Given the description of an element on the screen output the (x, y) to click on. 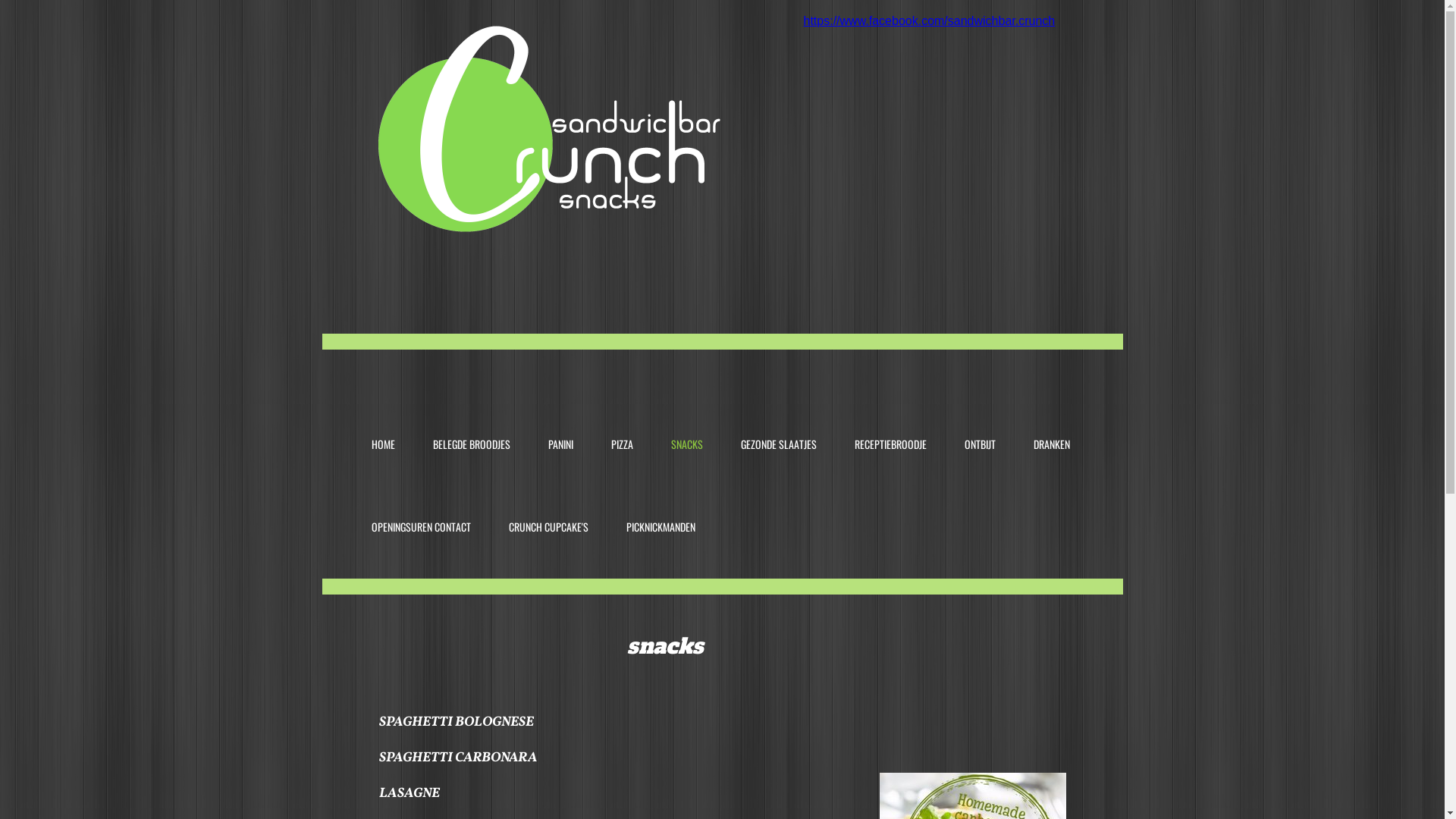
GEZONDE SLAATJES Element type: text (778, 420)
OPENINGSUREN CONTACT Element type: text (420, 503)
https://www.facebook.com/sandwichbar.crunch Element type: text (929, 20)
RECEPTIEBROODJE Element type: text (890, 420)
CRUNCH CUPCAKE'S Element type: text (548, 503)
PANINI Element type: text (560, 420)
PIZZA Element type: text (621, 420)
ONTBIJT Element type: text (978, 420)
PICKNICKMANDEN Element type: text (659, 503)
BELEGDE BROODJES Element type: text (471, 420)
HOME Element type: text (382, 420)
SNACKS Element type: text (686, 420)
DRANKEN Element type: text (1051, 420)
